Given the description of an element on the screen output the (x, y) to click on. 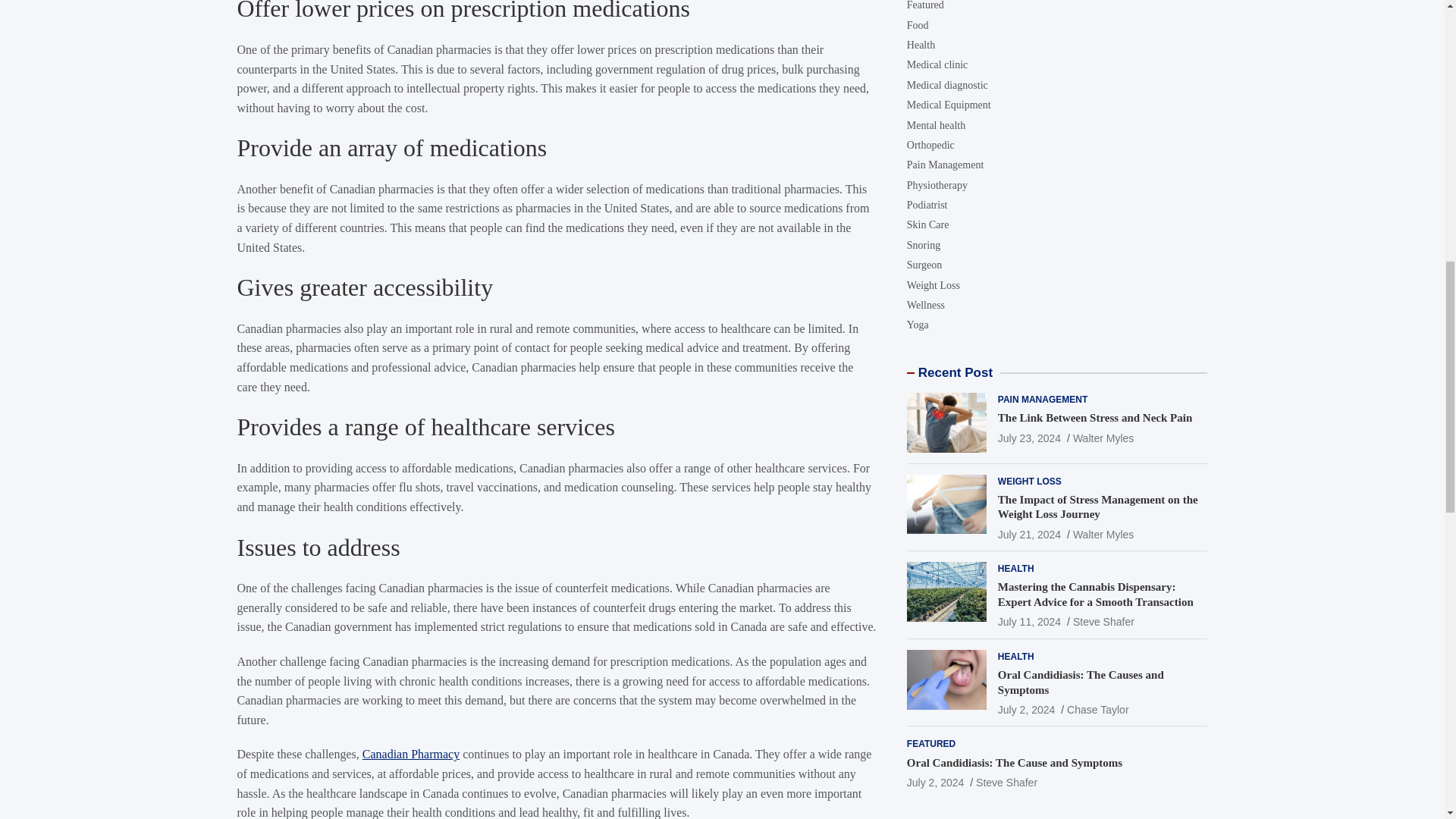
Canadian Pharmacy (411, 753)
Oral Candidiasis: The Cause and Symptoms (935, 490)
The Impact of Stress Management on the Weight Loss Journey (1029, 242)
Oral Candidiasis: The Causes and Symptoms (1026, 417)
The Link Between Stress and Neck Pain (1029, 146)
